Given the description of an element on the screen output the (x, y) to click on. 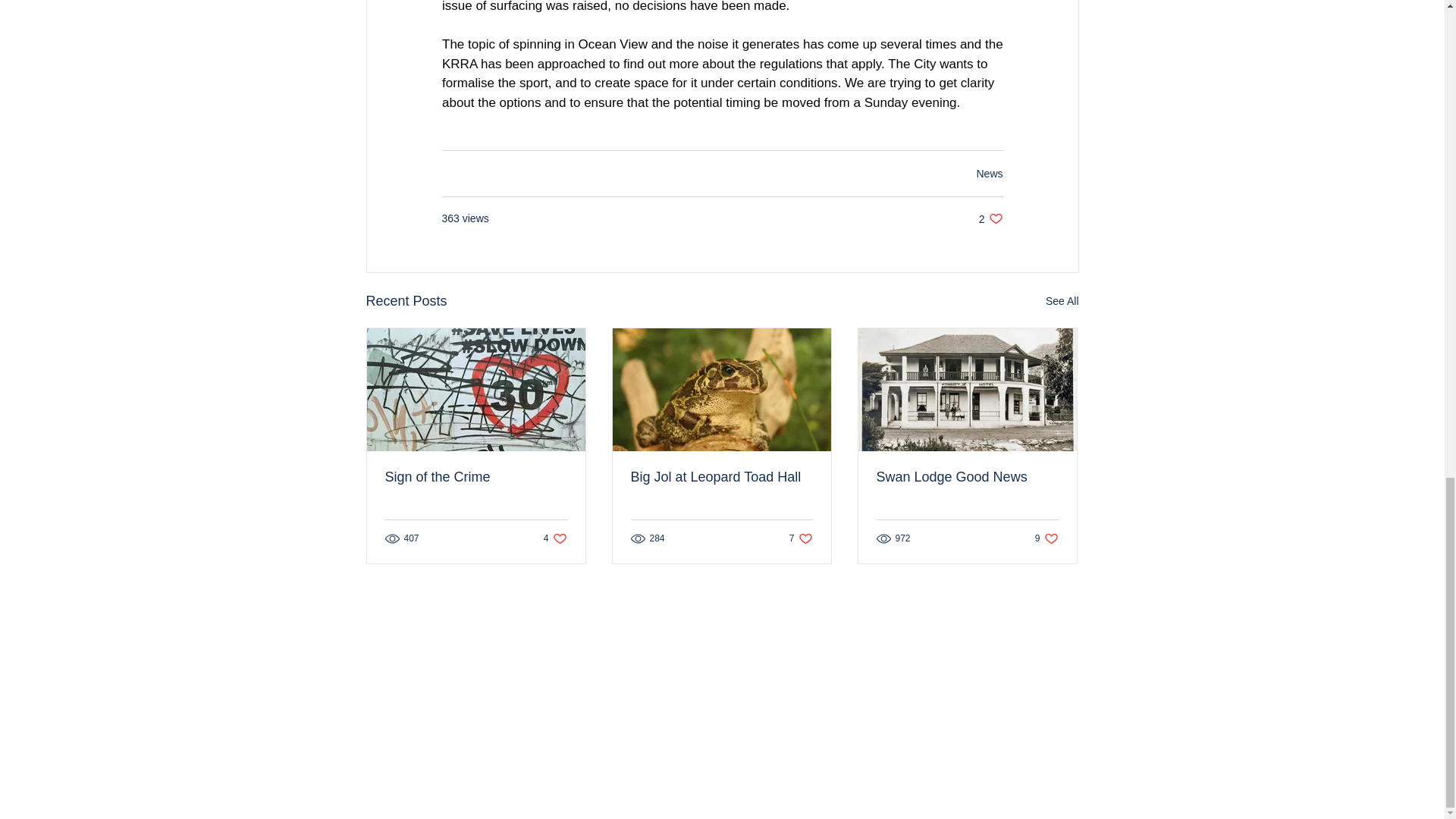
See All (1061, 301)
News (989, 173)
